Given the description of an element on the screen output the (x, y) to click on. 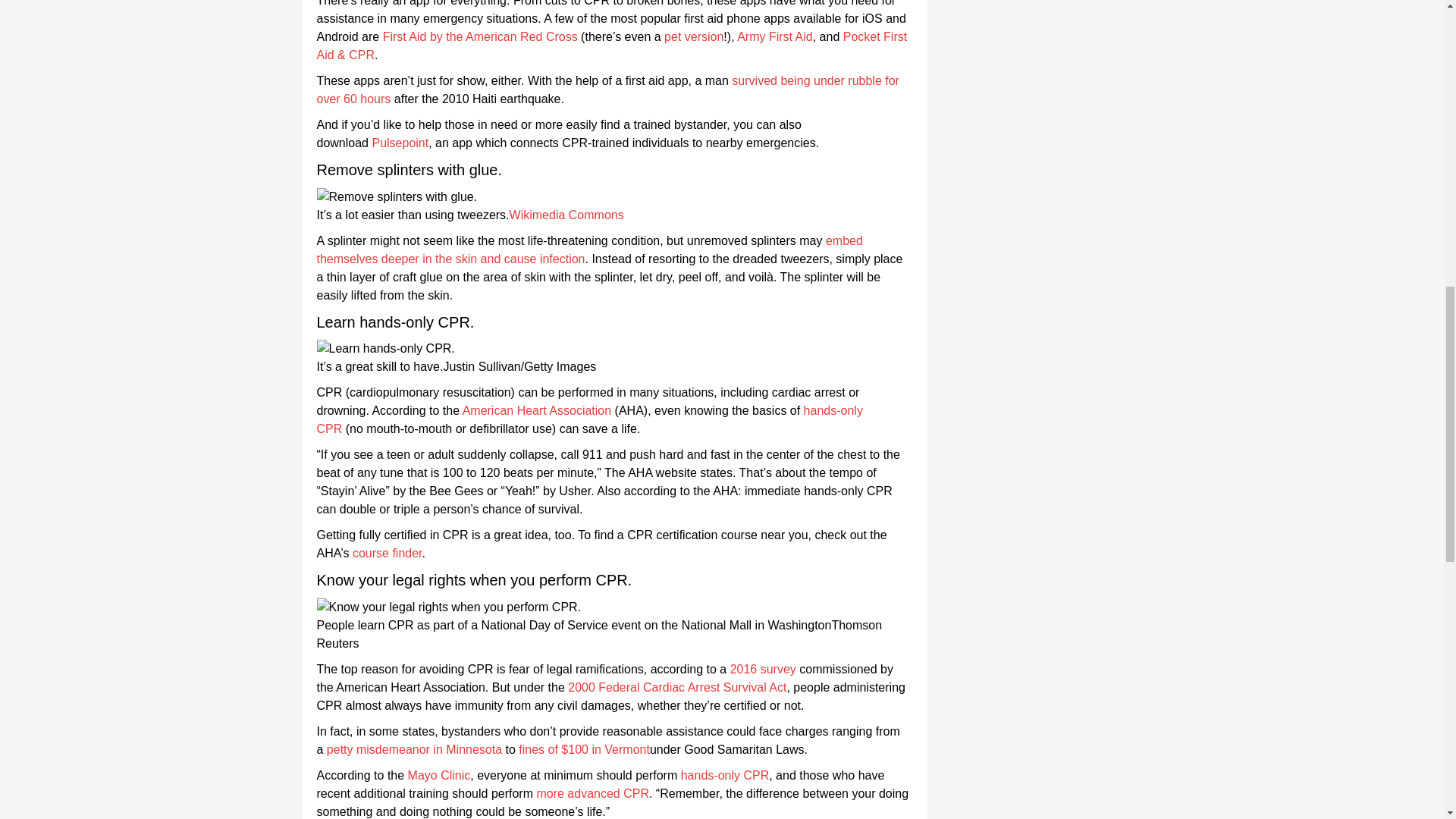
pet version (693, 36)
Army First Aid (774, 36)
survived being under rubble for over 60 hours (608, 89)
First Aid by the American Red Cross (480, 36)
Wikimedia Commons (566, 214)
embed themselves deeper in the skin and cause infection (590, 249)
Pulsepoint (399, 142)
hands-only CPR (590, 419)
course finder (387, 553)
American Heart Association (537, 410)
